Given the description of an element on the screen output the (x, y) to click on. 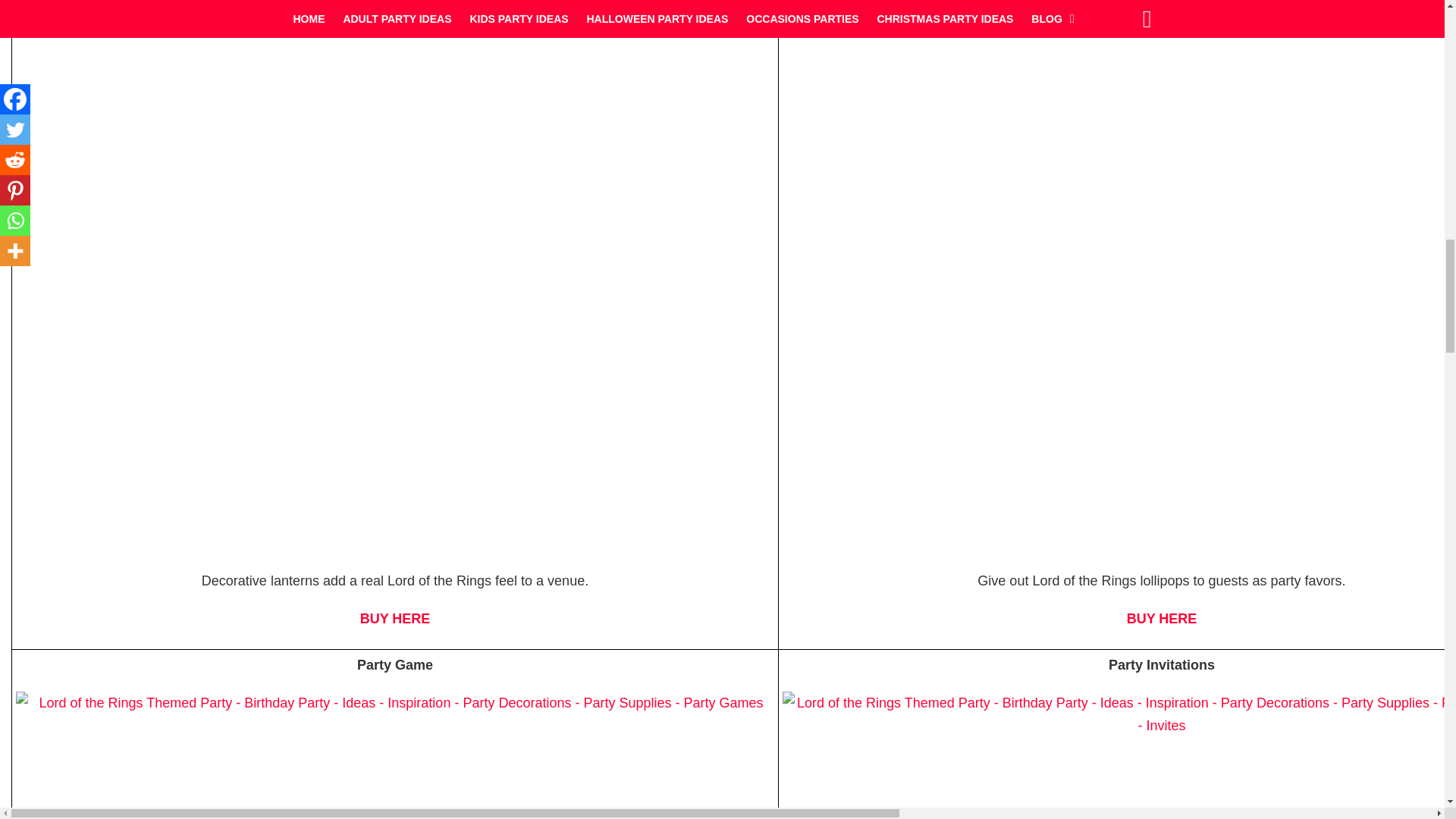
BUY HERE (394, 618)
